Given the description of an element on the screen output the (x, y) to click on. 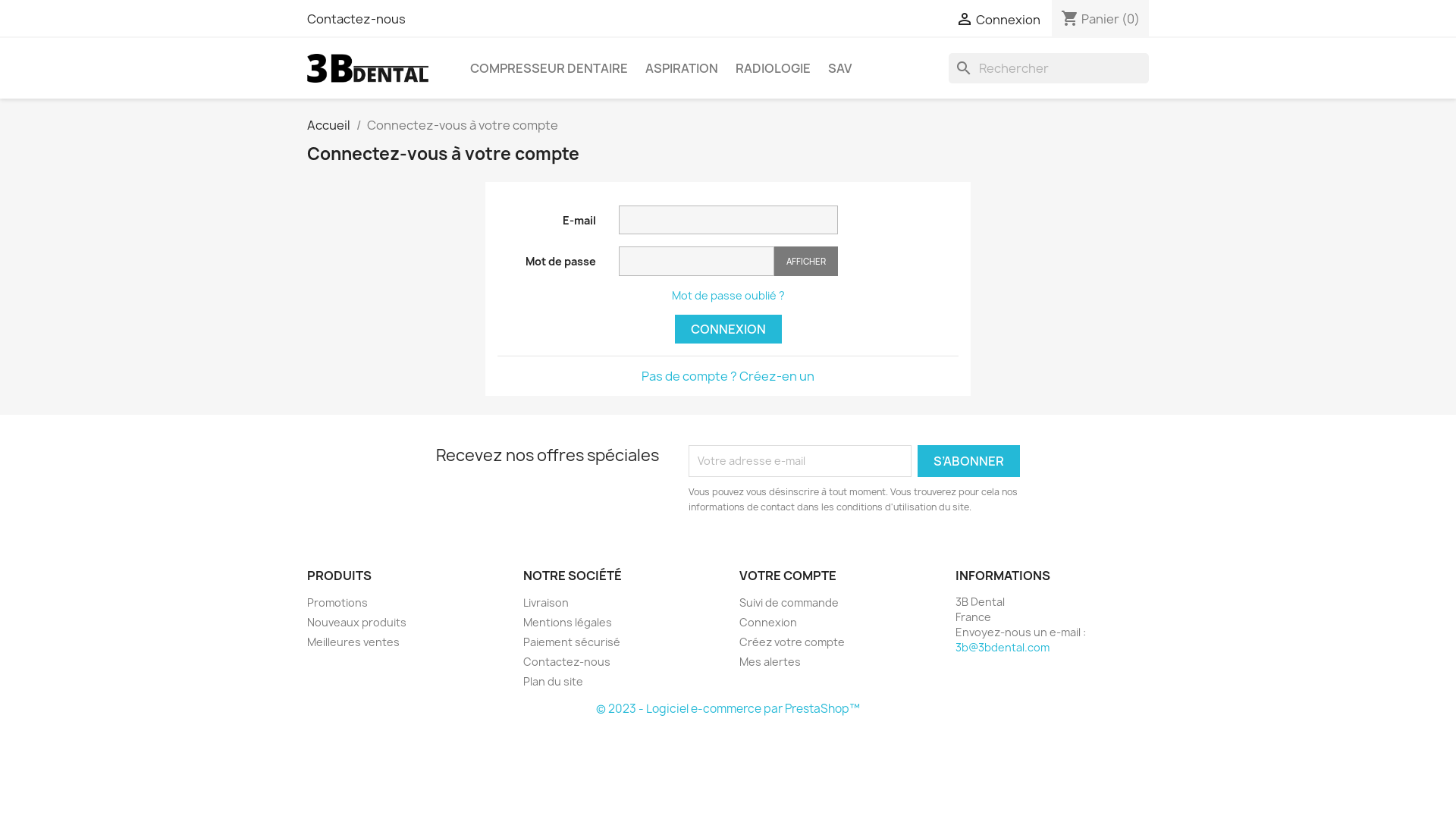
ASPIRATION Element type: text (681, 68)
COMPRESSEUR DENTAIRE Element type: text (548, 68)
VOTRE COMPTE Element type: text (787, 575)
Livraison Element type: text (545, 602)
Nouveaux produits Element type: text (356, 622)
Suivi de commande Element type: text (788, 602)
Contactez-nous Element type: text (566, 661)
Contactez-nous Element type: text (356, 18)
3b@3bdental.com Element type: text (1002, 647)
Meilleures ventes Element type: text (353, 641)
Accueil Element type: text (328, 124)
Promotions Element type: text (337, 602)
Mes alertes Element type: text (769, 661)
RADIOLOGIE Element type: text (773, 68)
CONNEXION Element type: text (727, 328)
Connexion Element type: text (768, 622)
SAV Element type: text (839, 68)
AFFICHER Element type: text (805, 261)
Plan du site Element type: text (553, 681)
